Given the description of an element on the screen output the (x, y) to click on. 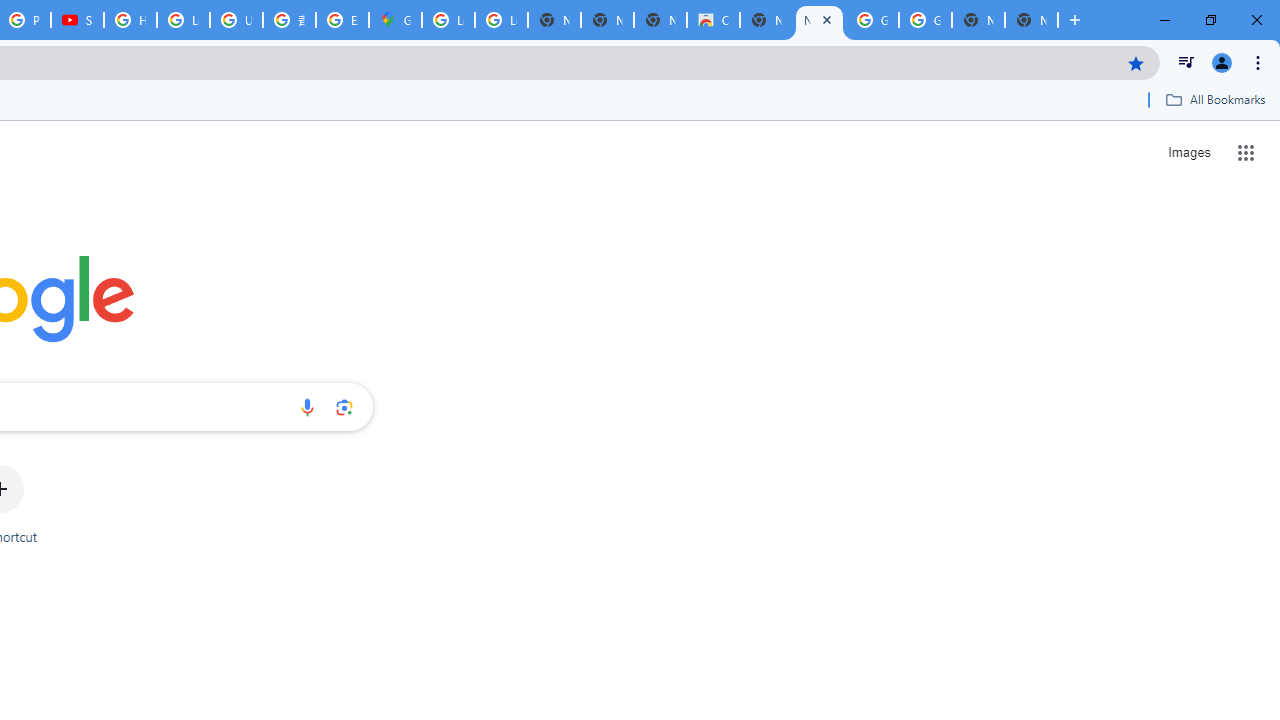
Google Maps (395, 20)
How Chrome protects your passwords - Google Chrome Help (130, 20)
New Tab (1031, 20)
Google Images (925, 20)
Chrome Web Store (713, 20)
Google Images (872, 20)
Explore new street-level details - Google Maps Help (342, 20)
